Given the description of an element on the screen output the (x, y) to click on. 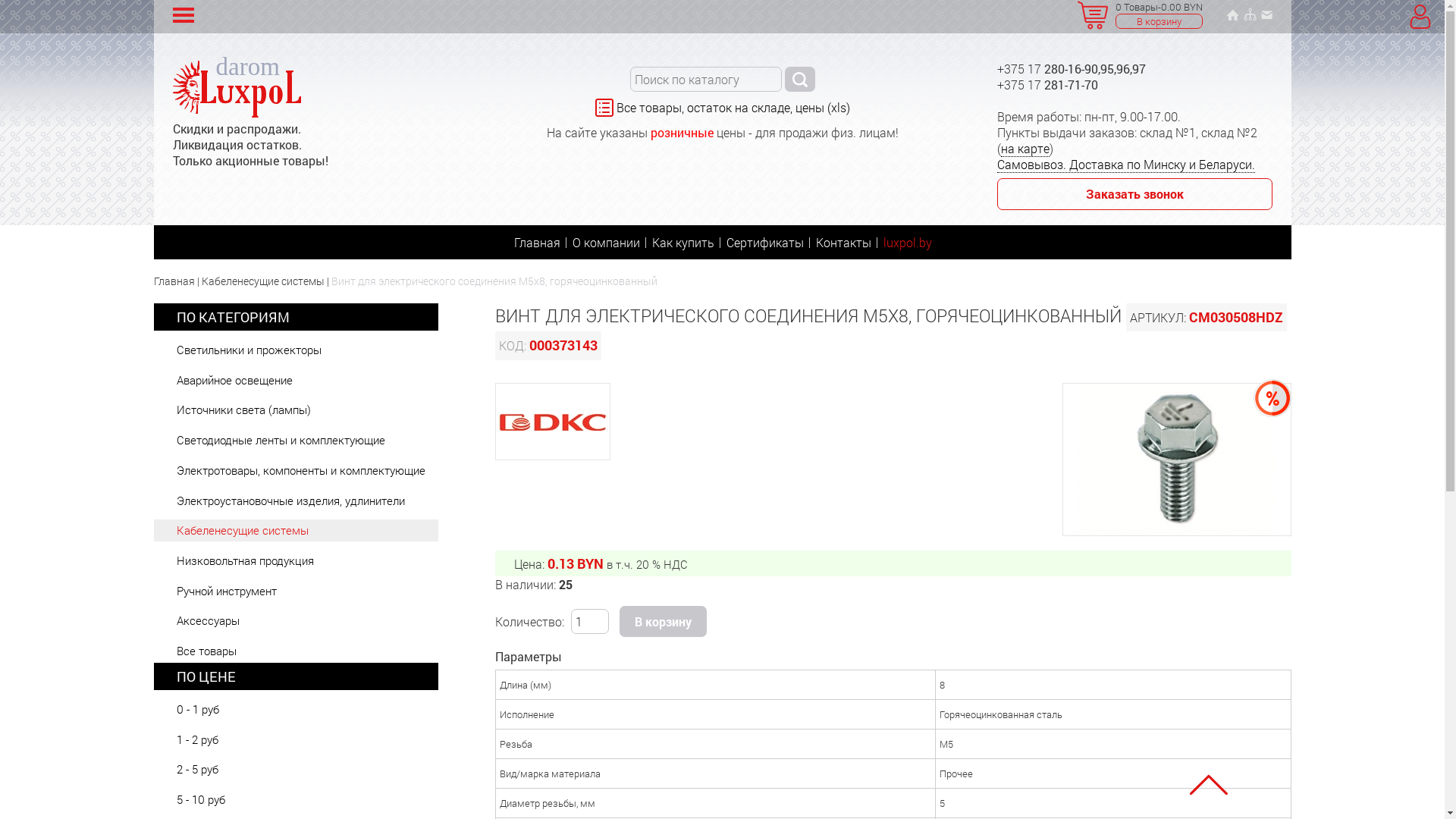
  Element type: text (799, 78)
luxpol.by Element type: text (906, 242)
